Given the description of an element on the screen output the (x, y) to click on. 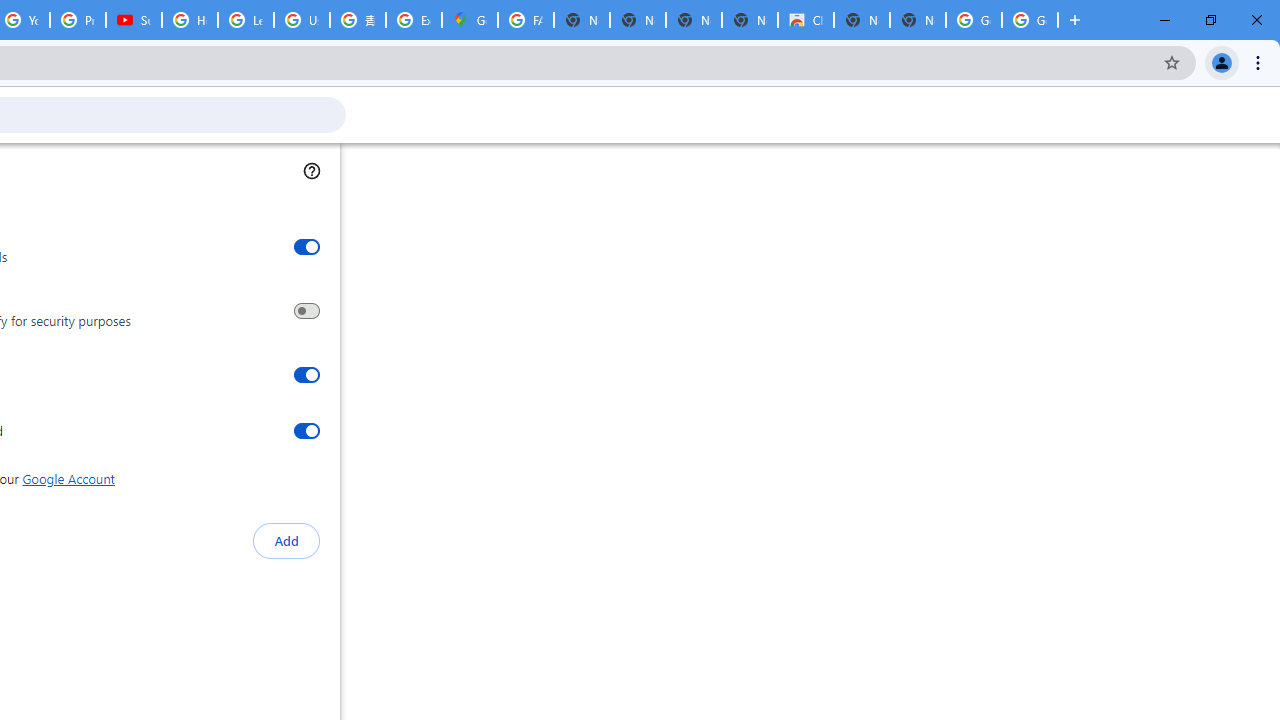
Chrome Web Store (806, 20)
New Tab (917, 20)
Google Images (973, 20)
Google Images (1030, 20)
Explore new street-level details - Google Maps Help (413, 20)
Subscriptions - YouTube (134, 20)
